Given the description of an element on the screen output the (x, y) to click on. 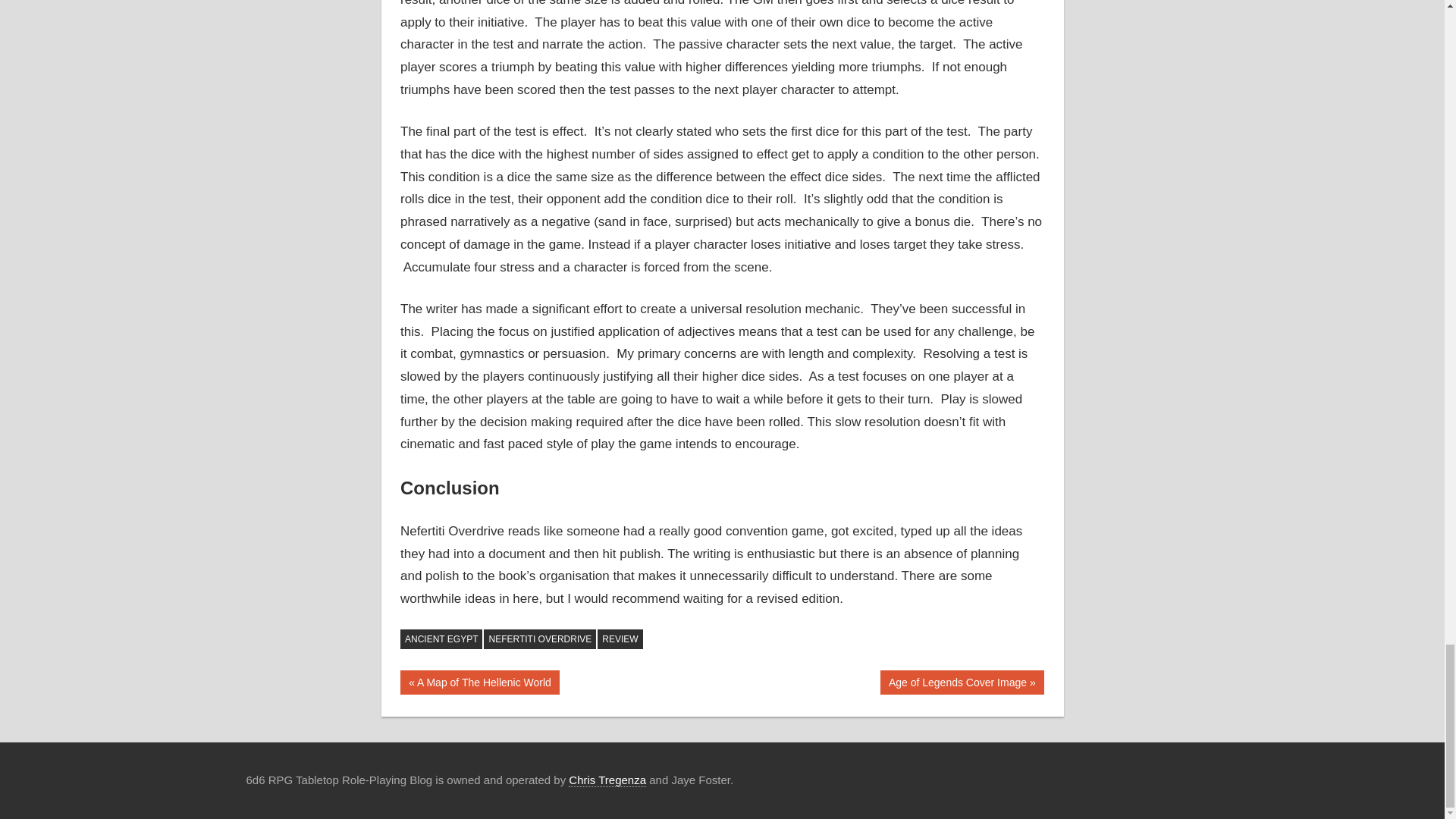
NEFERTITI OVERDRIVE (539, 639)
Chris Tregenza (607, 780)
ANCIENT EGYPT (961, 682)
REVIEW (479, 682)
